Given the description of an element on the screen output the (x, y) to click on. 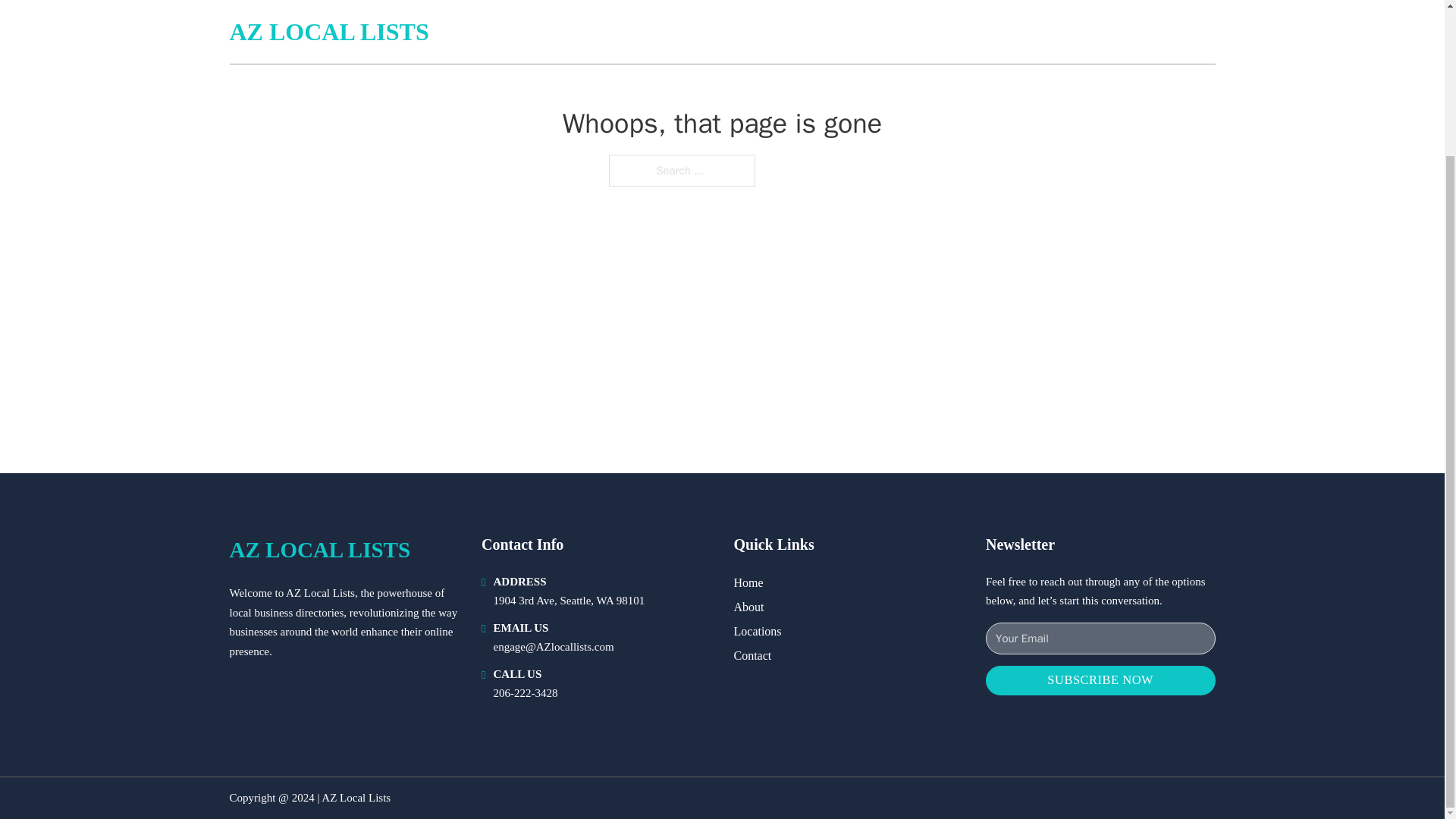
Locations (757, 630)
Contact (752, 655)
Home (747, 582)
AZ LOCAL LISTS (319, 549)
206-222-3428 (525, 693)
About (748, 607)
SUBSCRIBE NOW (1100, 680)
